Given the description of an element on the screen output the (x, y) to click on. 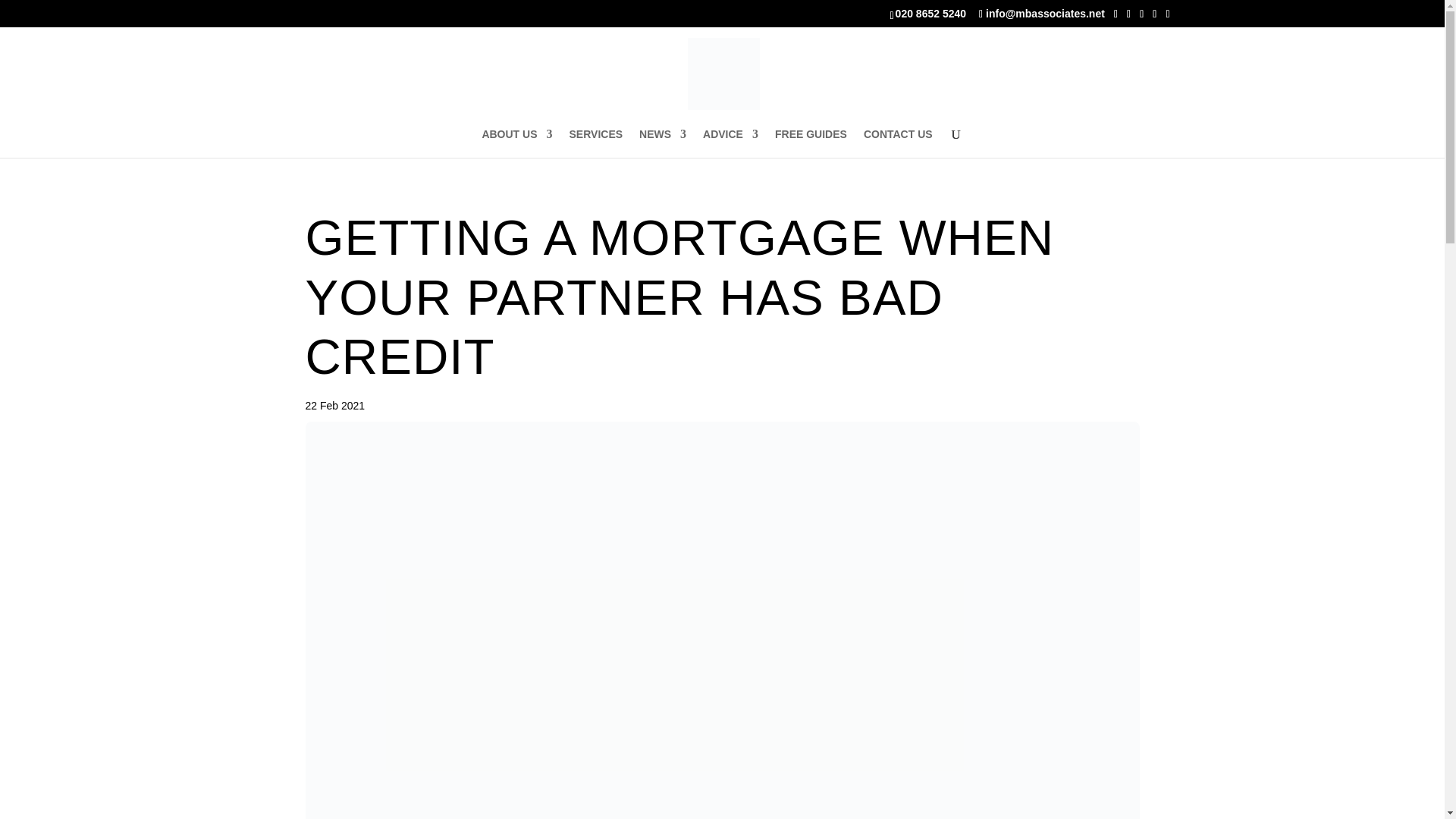
NEWS (662, 143)
CONTACT US (898, 143)
FREE GUIDES (810, 143)
ABOUT US (516, 143)
ADVICE (730, 143)
SERVICES (596, 143)
